Given the description of an element on the screen output the (x, y) to click on. 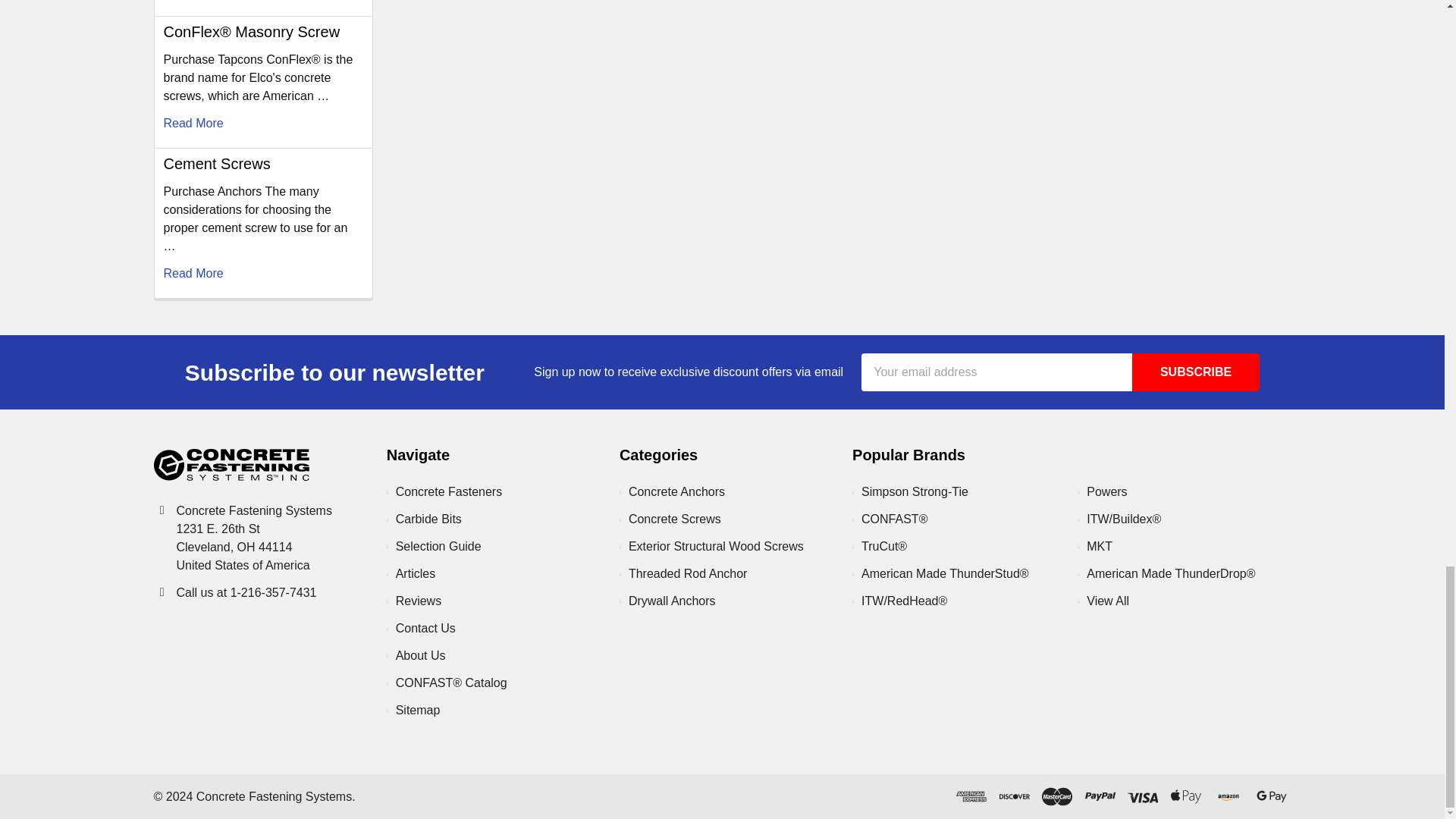
Concrete Fastening Systems (230, 464)
Subscribe (1195, 371)
